Given the description of an element on the screen output the (x, y) to click on. 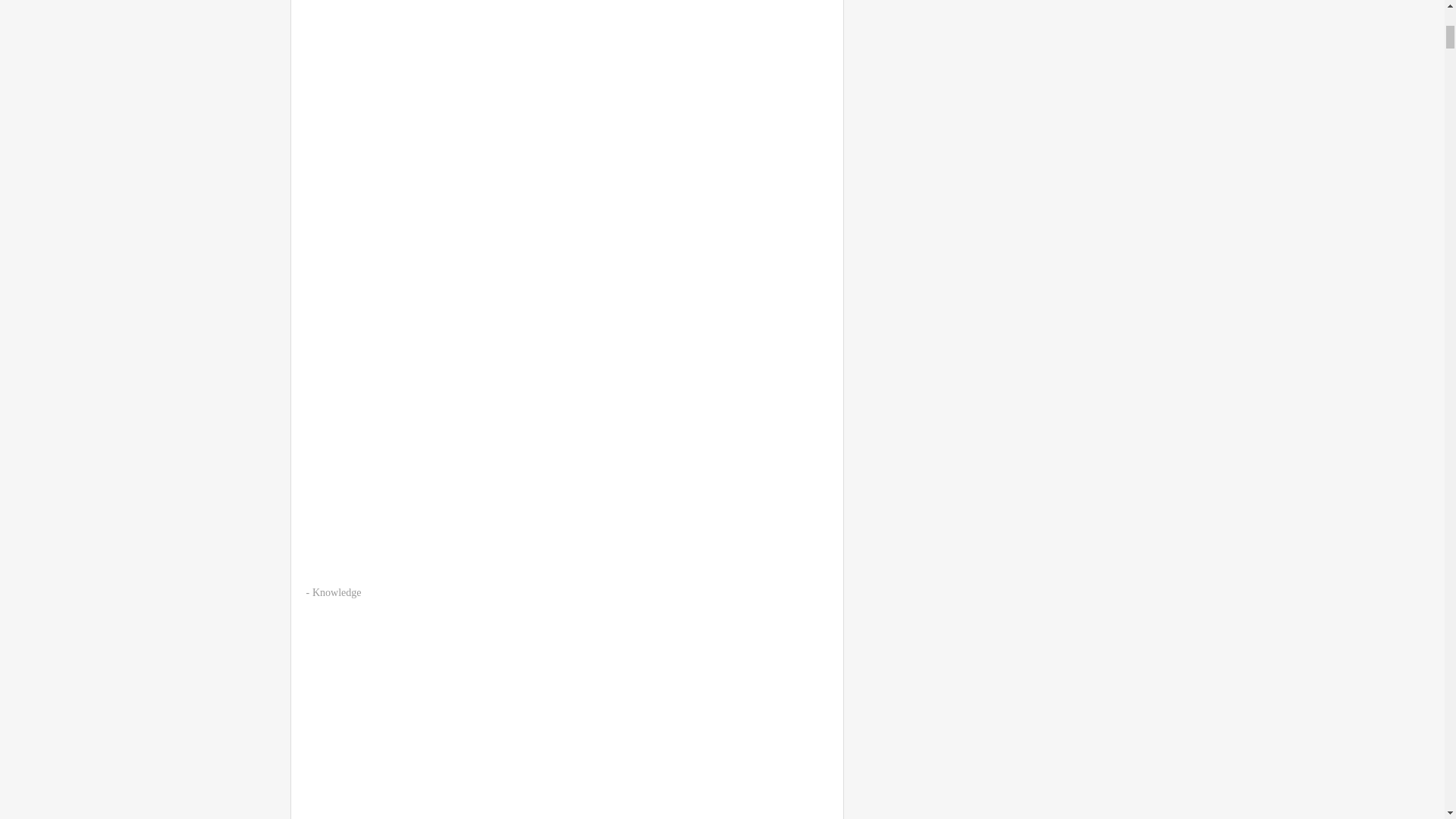
Knowledge (337, 592)
